Given the description of an element on the screen output the (x, y) to click on. 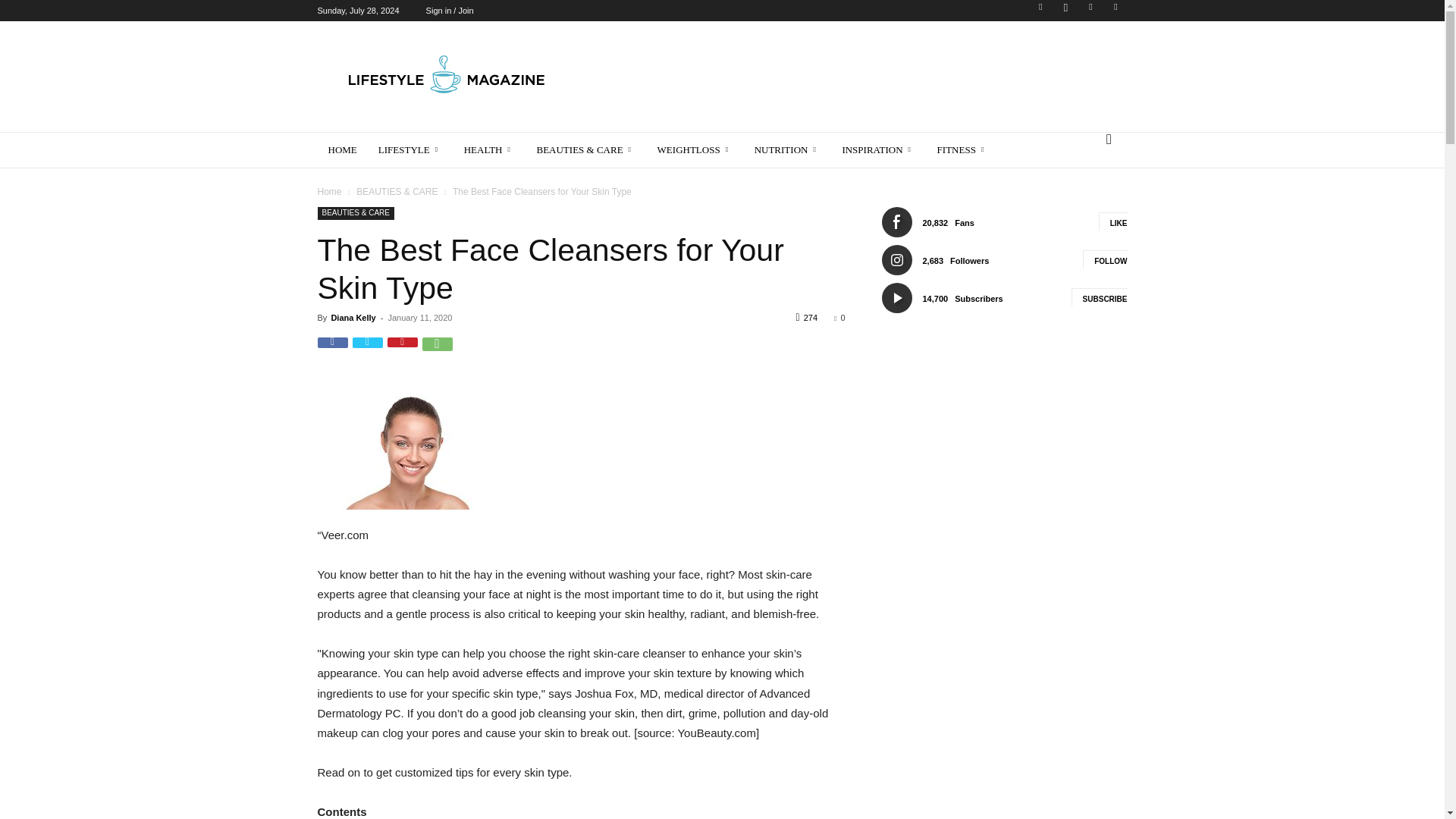
Youtube (1114, 11)
Instagram (1065, 11)
HOME (341, 149)
Facebook (1040, 11)
Twitter (1090, 11)
LIFESTYLE (410, 149)
